Given the description of an element on the screen output the (x, y) to click on. 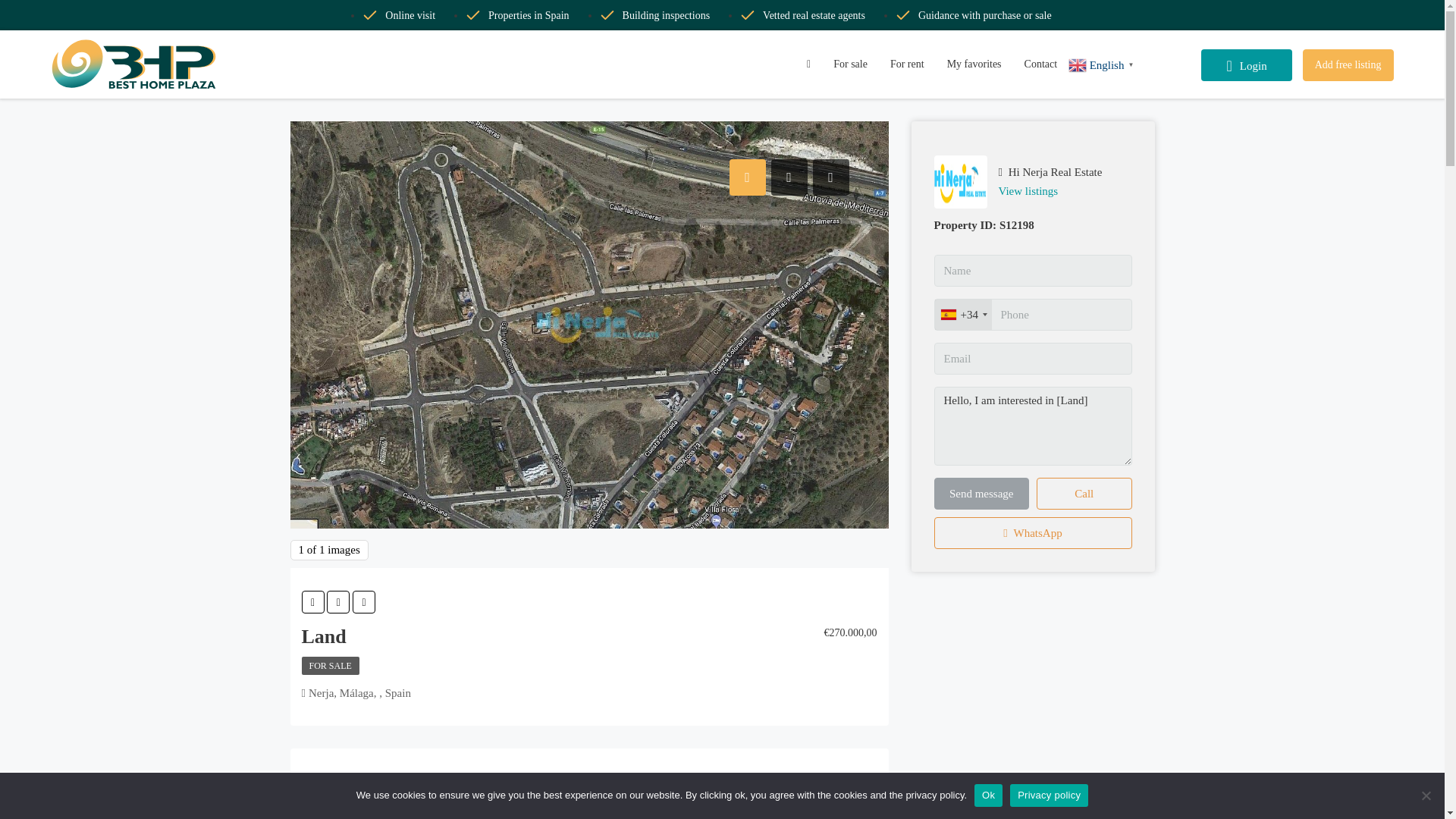
My favorites (974, 64)
Guidance with purchase or sale (973, 15)
Online visit (398, 15)
Properties in Spain (517, 15)
Vetted real estate agents (801, 15)
Building inspections (654, 15)
